Given the description of an element on the screen output the (x, y) to click on. 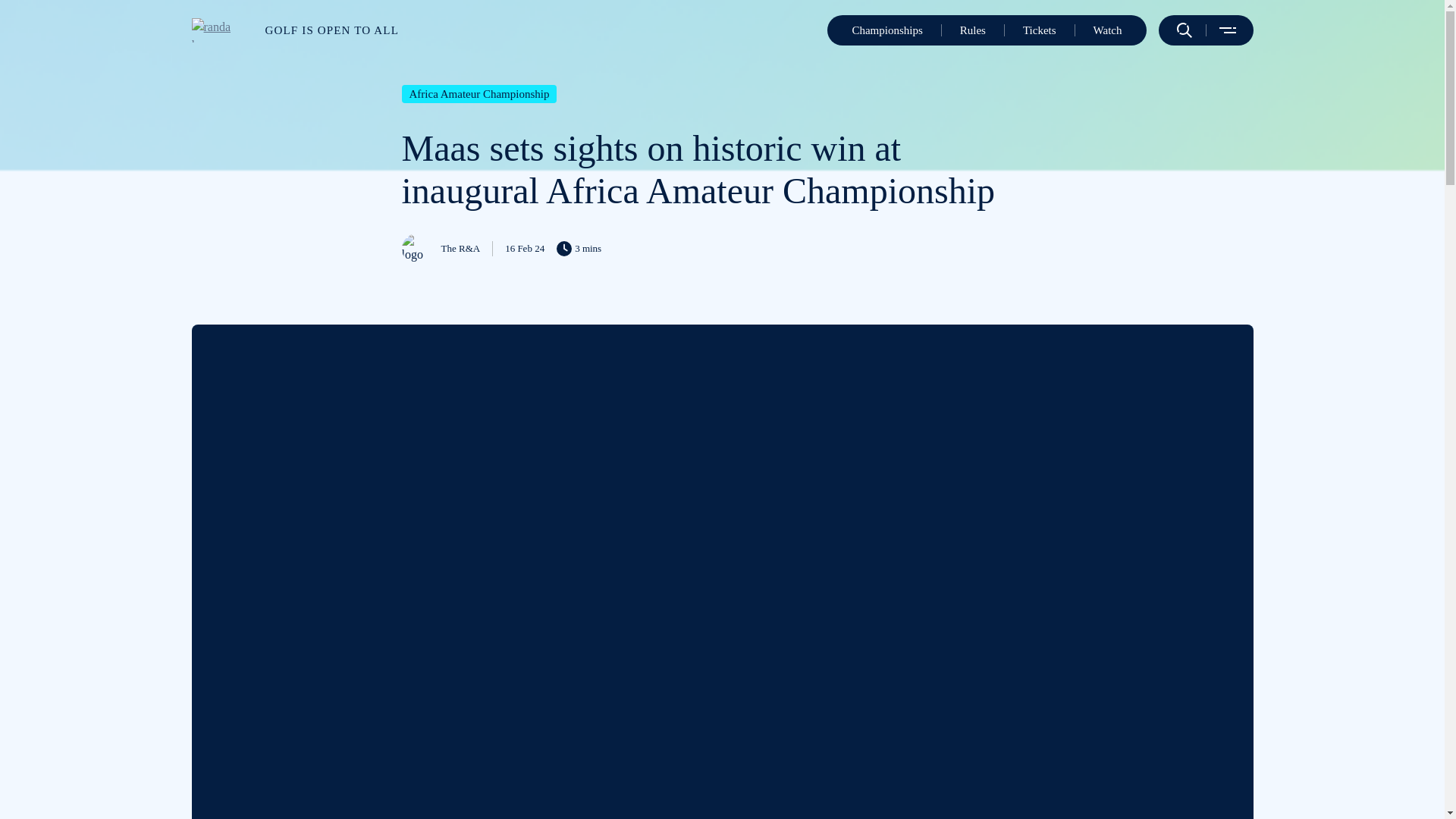
Rules (972, 30)
Watch (1107, 30)
Tickets (1040, 30)
Championships (886, 30)
